Given the description of an element on the screen output the (x, y) to click on. 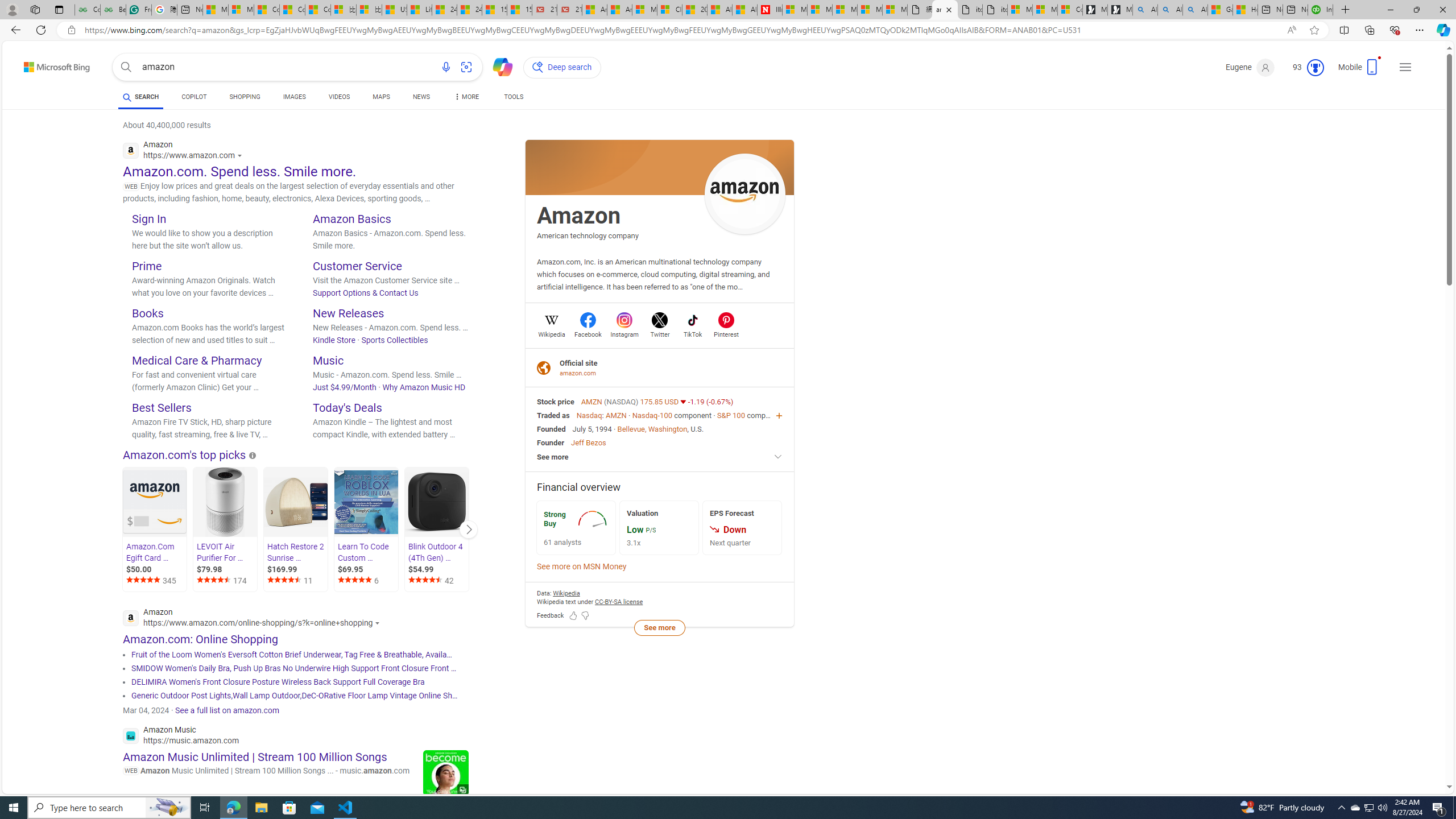
AMZN (615, 415)
Traded as (553, 415)
American technology company (588, 235)
Back to Bing search (50, 64)
About our relevant products (252, 454)
Sign In (148, 218)
Alabama high school quarterback dies - Search (1144, 9)
MAPS (381, 96)
Chat (497, 65)
